Given the description of an element on the screen output the (x, y) to click on. 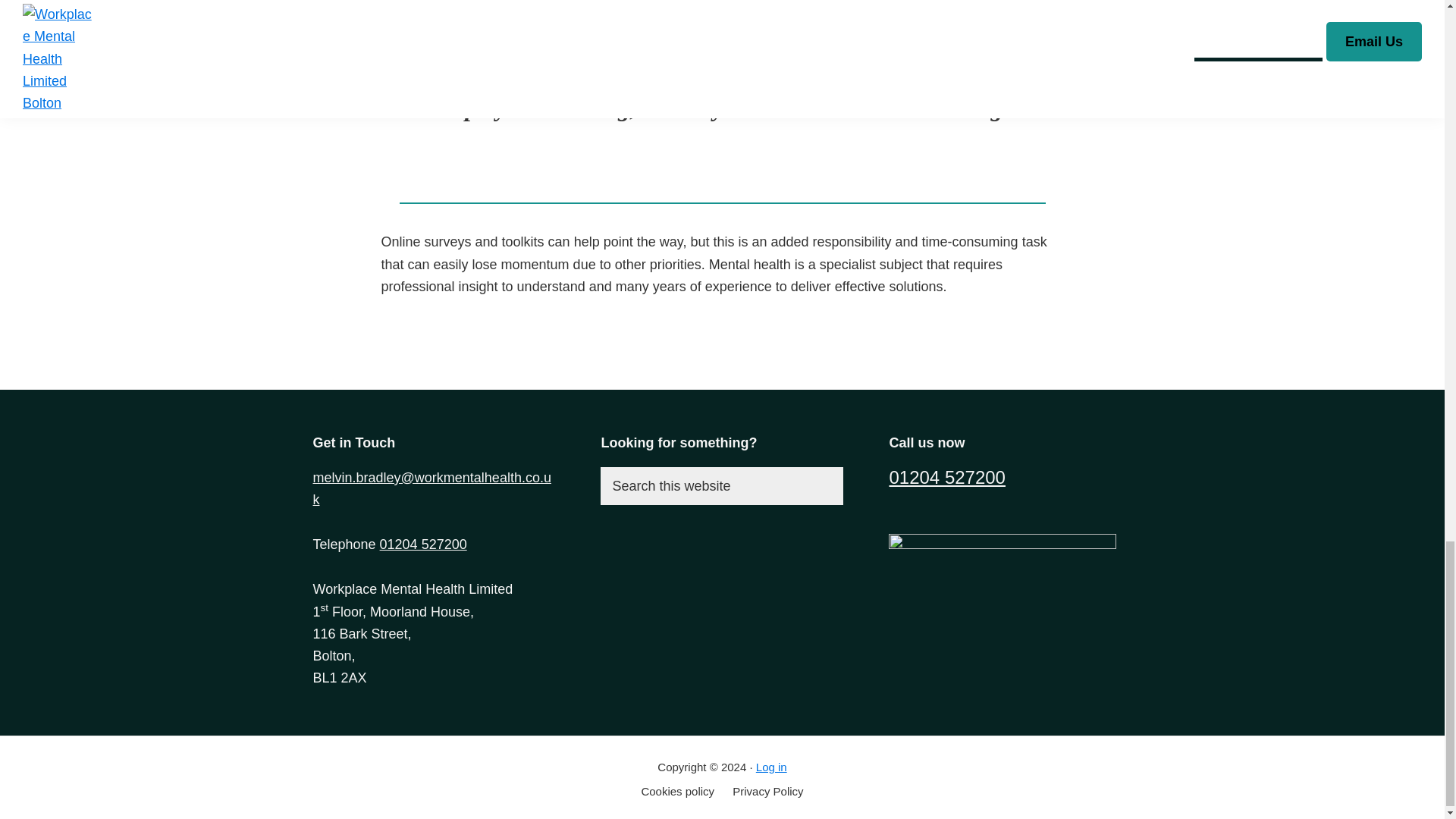
01204 527200 (423, 544)
